Given the description of an element on the screen output the (x, y) to click on. 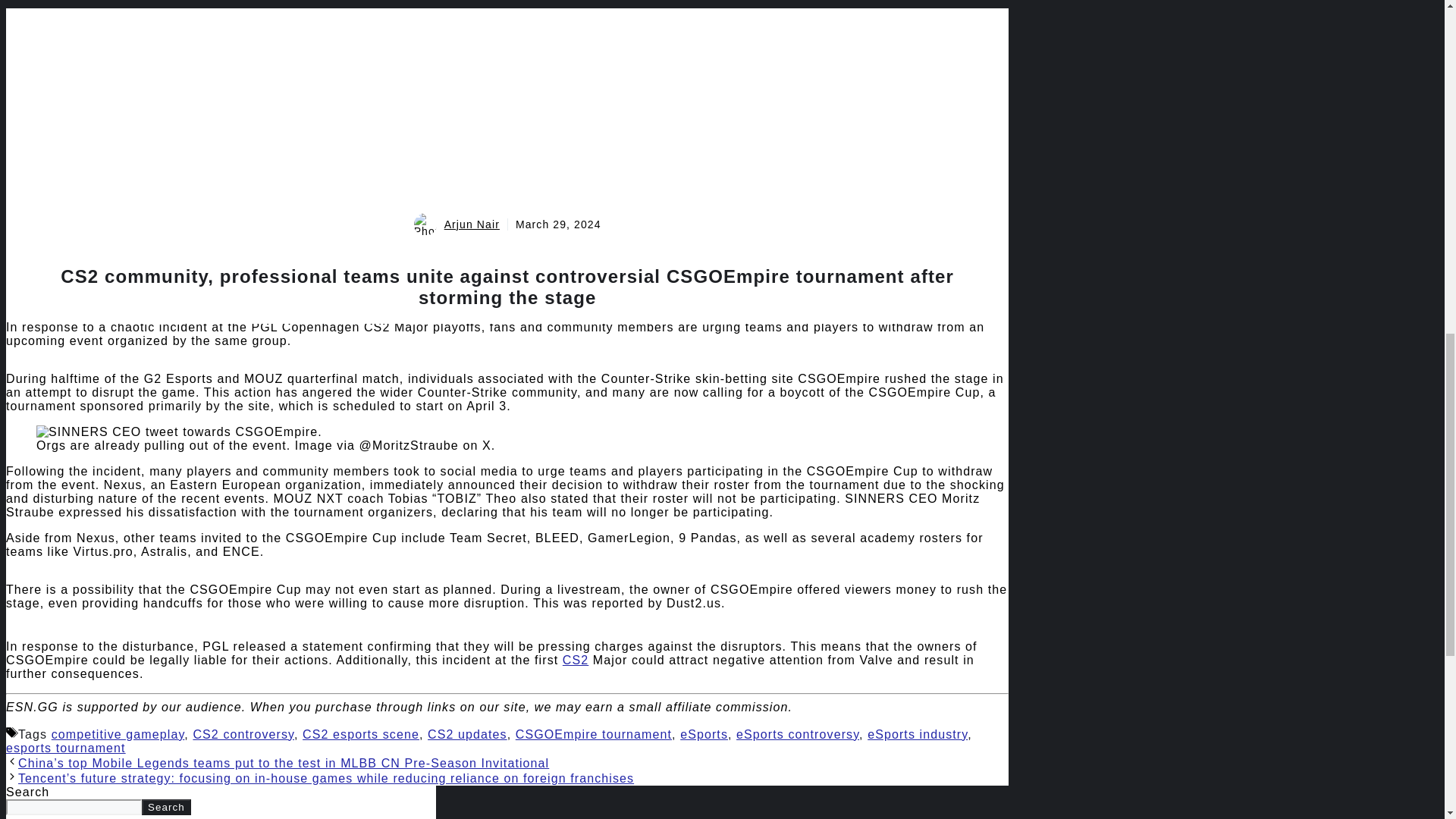
Arjun Nair (471, 224)
CS2 (575, 659)
